Given the description of an element on the screen output the (x, y) to click on. 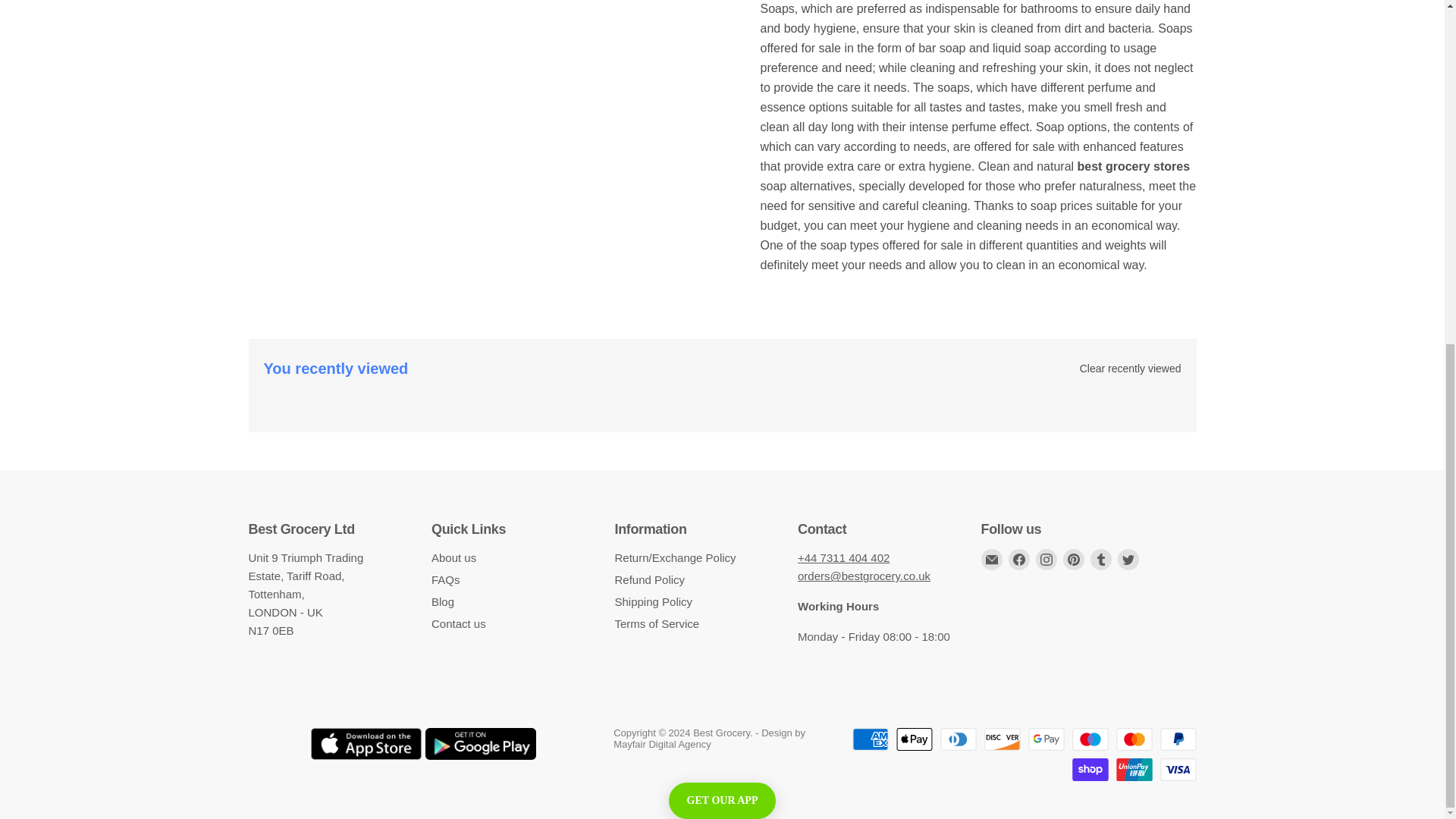
Instagram (1046, 559)
Pinterest (1073, 559)
Email (992, 559)
Tumblr (1101, 559)
Facebook (1019, 559)
Twitter (1128, 559)
